Given the description of an element on the screen output the (x, y) to click on. 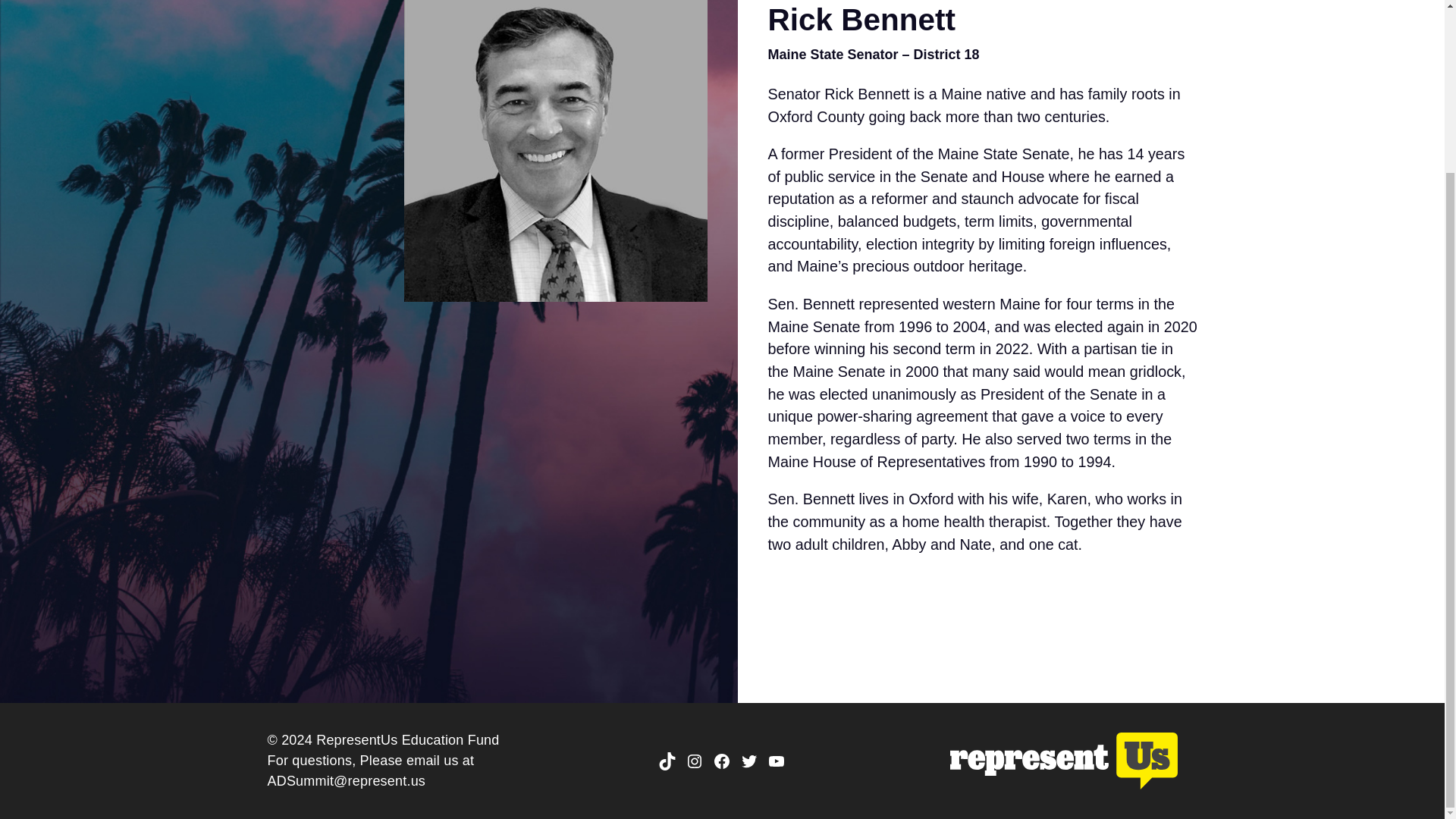
TikTok (667, 761)
Twitter (748, 761)
Facebook (721, 761)
YouTube (776, 761)
Instagram (694, 761)
